Given the description of an element on the screen output the (x, y) to click on. 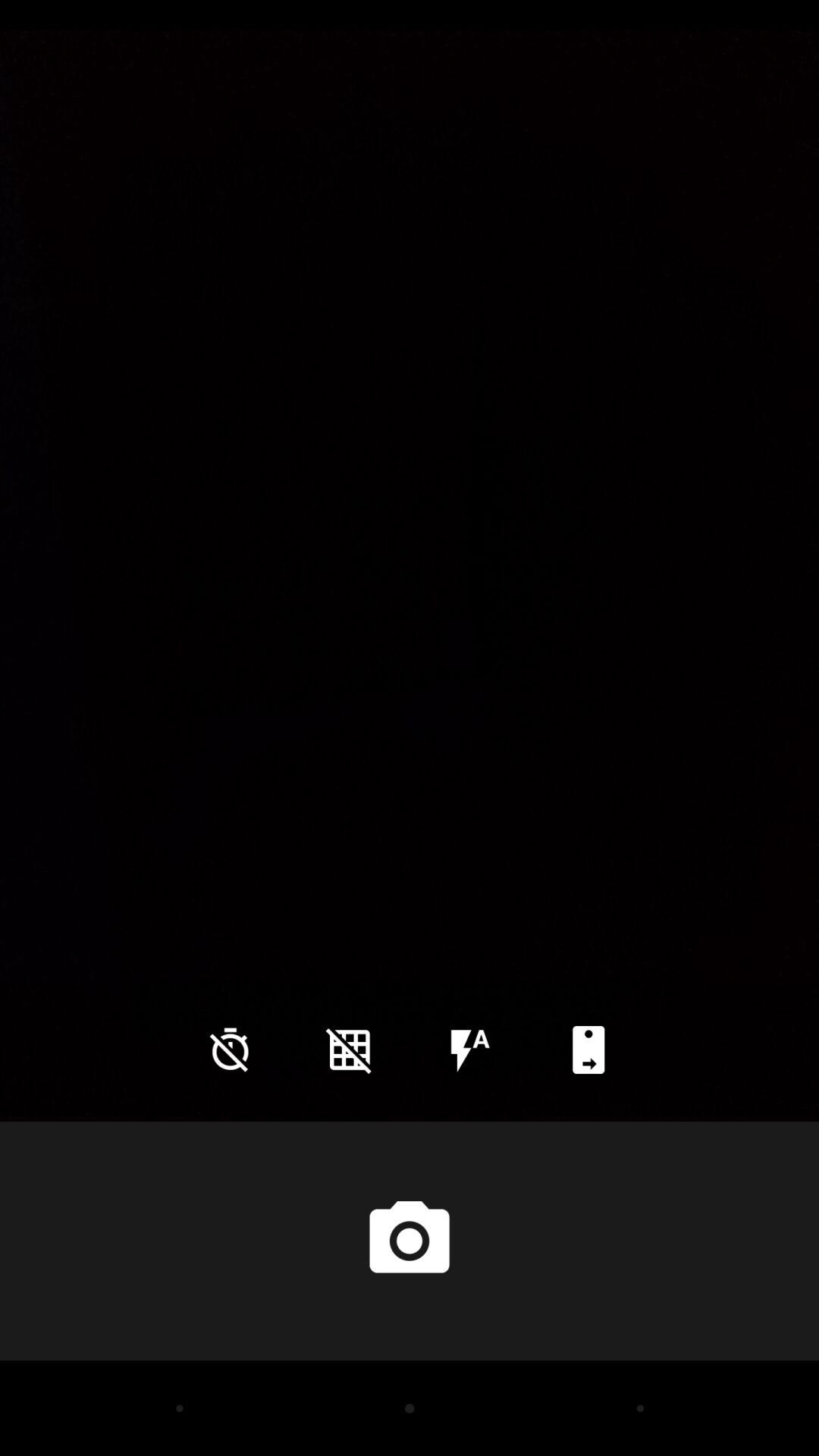
click icon at the bottom right corner (588, 1049)
